Given the description of an element on the screen output the (x, y) to click on. 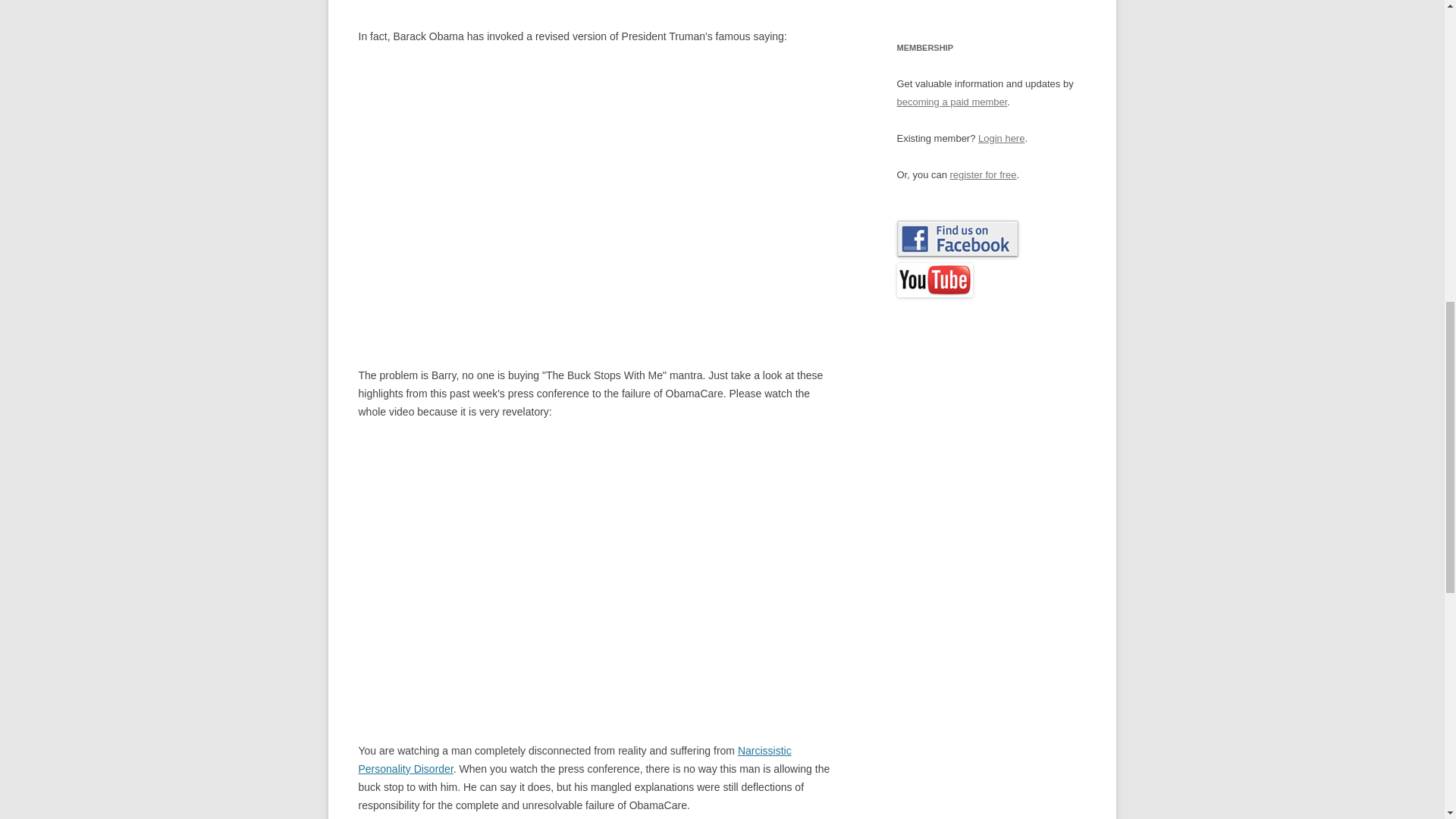
YouTube video player (518, 193)
YouTube video player (518, 569)
Narcissistic Personality Disorder (574, 759)
register for free (983, 174)
becoming a paid member (951, 101)
Login here (1001, 138)
